Given the description of an element on the screen output the (x, y) to click on. 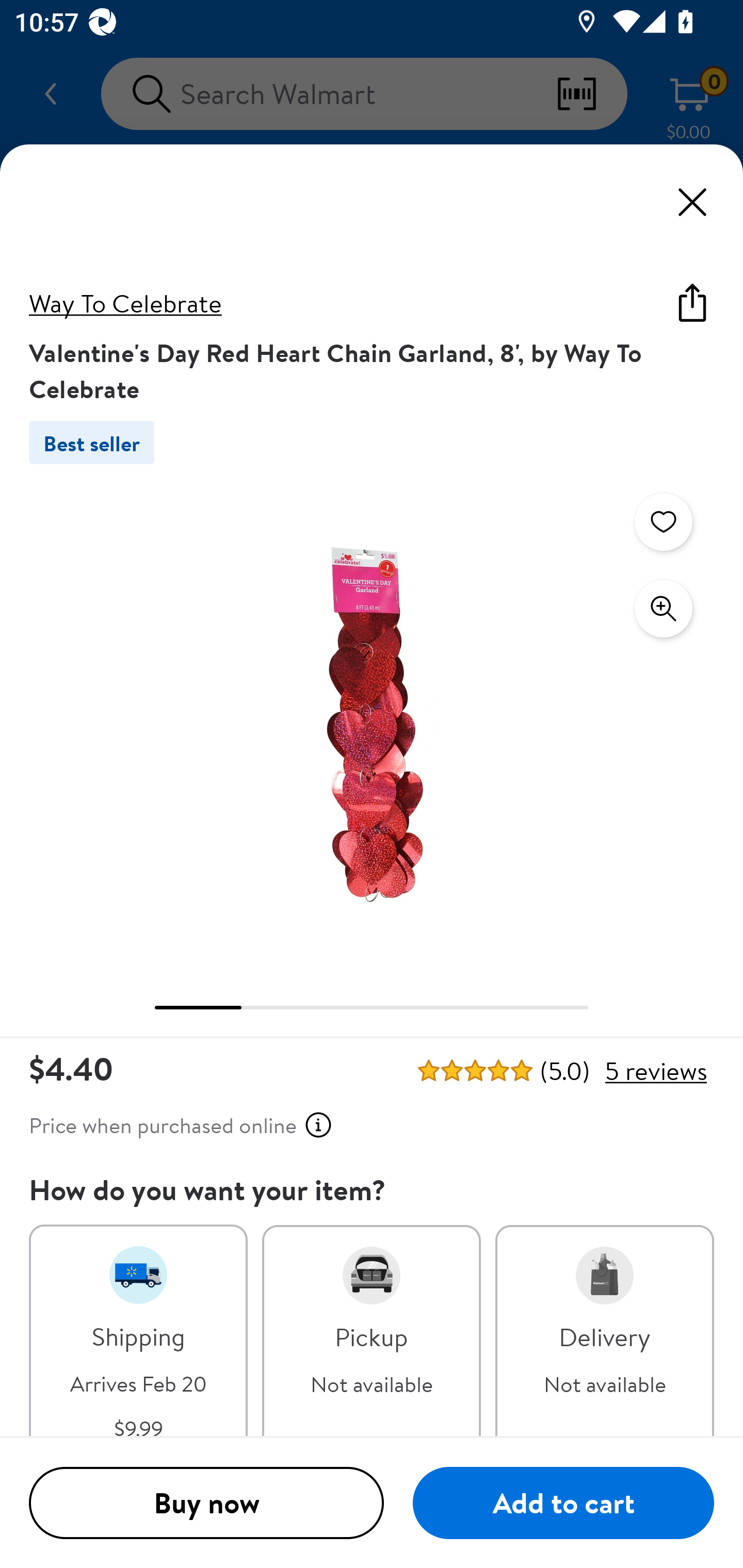
Close (692, 202)
Share item (692, 302)
Image 1 of 5 (371, 723)
Zoom button (663, 609)
5 reviews (655, 1070)
Price when purchased online (180, 1124)
Buy now (206, 1503)
Add to cart (563, 1503)
